Given the description of an element on the screen output the (x, y) to click on. 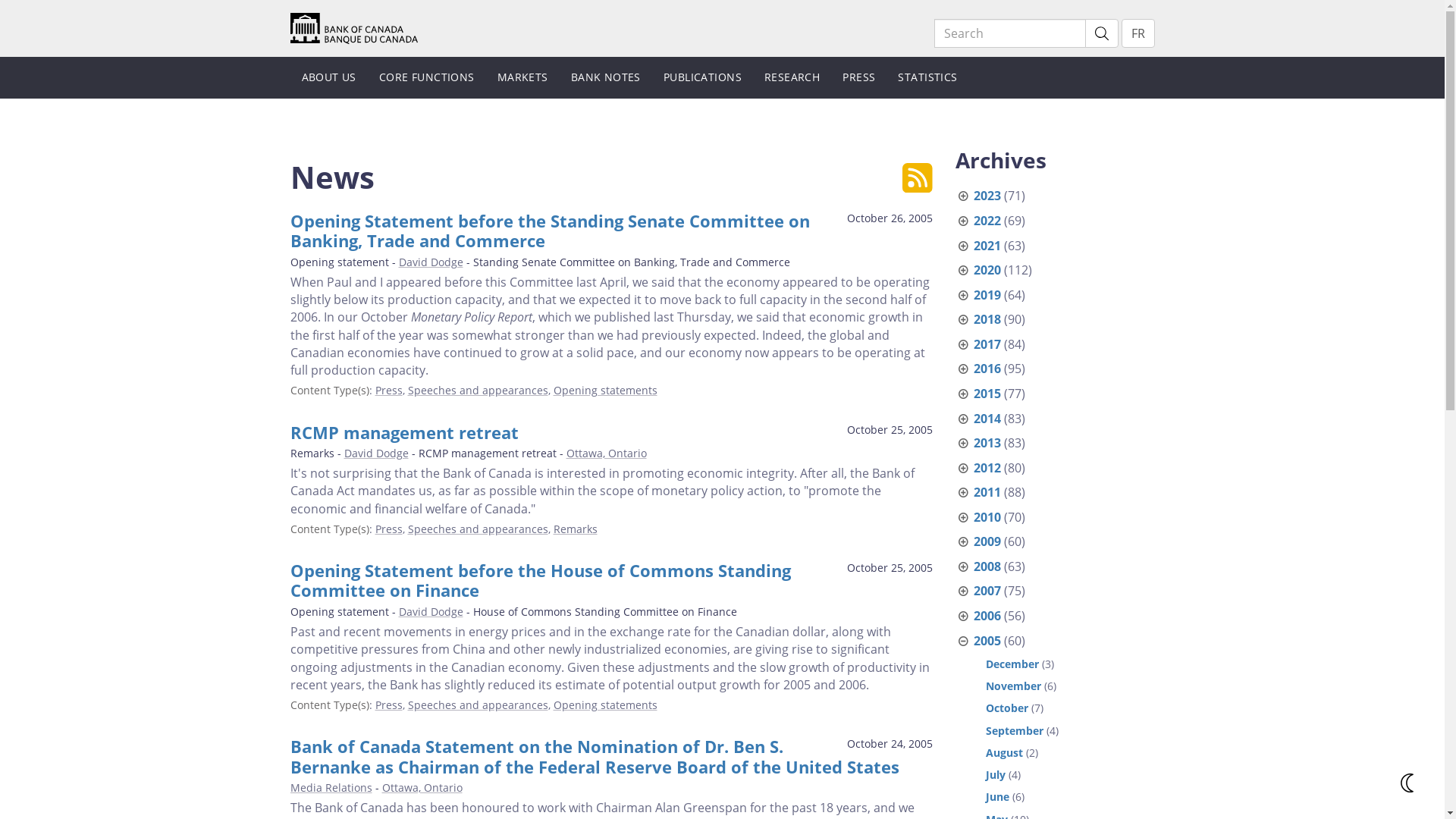
David Dodge Element type: text (430, 611)
RESEARCH Element type: text (792, 77)
July Element type: text (995, 774)
2005 Element type: text (987, 640)
Ottawa, Ontario Element type: text (422, 787)
ABOUT US Element type: text (328, 77)
Speeches and appearances Element type: text (477, 528)
David Dodge Element type: text (430, 261)
Remarks Element type: text (575, 528)
2011 Element type: text (987, 491)
2009 Element type: text (987, 541)
David Dodge Element type: text (376, 452)
August Element type: text (1003, 752)
BANK NOTES Element type: text (605, 77)
2023 Element type: text (987, 195)
September Element type: text (1014, 730)
December Element type: text (1011, 663)
Opening statements Element type: text (605, 389)
2015 Element type: text (987, 393)
Opening statements Element type: text (605, 704)
2020 Element type: text (987, 269)
FR Element type: text (1137, 32)
Press Element type: text (387, 389)
Media Relations Element type: text (330, 787)
2010 Element type: text (987, 516)
2022 Element type: text (987, 220)
2017 Element type: text (987, 343)
November Element type: text (1013, 685)
RCMP management retreat Element type: text (403, 431)
PRESS Element type: text (858, 77)
Speeches and appearances Element type: text (477, 389)
Speeches and appearances Element type: text (477, 704)
Press Element type: text (387, 704)
Press Element type: text (387, 528)
PUBLICATIONS Element type: text (702, 77)
Search Element type: hover (1009, 32)
Home Element type: text (353, 26)
MARKETS Element type: text (522, 77)
2012 Element type: text (987, 467)
2006 Element type: text (987, 615)
June Element type: text (997, 796)
2007 Element type: text (987, 590)
2008 Element type: text (987, 566)
2013 Element type: text (987, 442)
CORE FUNCTIONS Element type: text (426, 77)
STATISTICS Element type: text (927, 77)
2019 Element type: text (987, 294)
Ottawa, Ontario Element type: text (605, 452)
2014 Element type: text (987, 418)
2016 Element type: text (987, 368)
Search Element type: text (1100, 32)
2018 Element type: text (987, 318)
October Element type: text (1006, 707)
2021 Element type: text (987, 245)
